Given the description of an element on the screen output the (x, y) to click on. 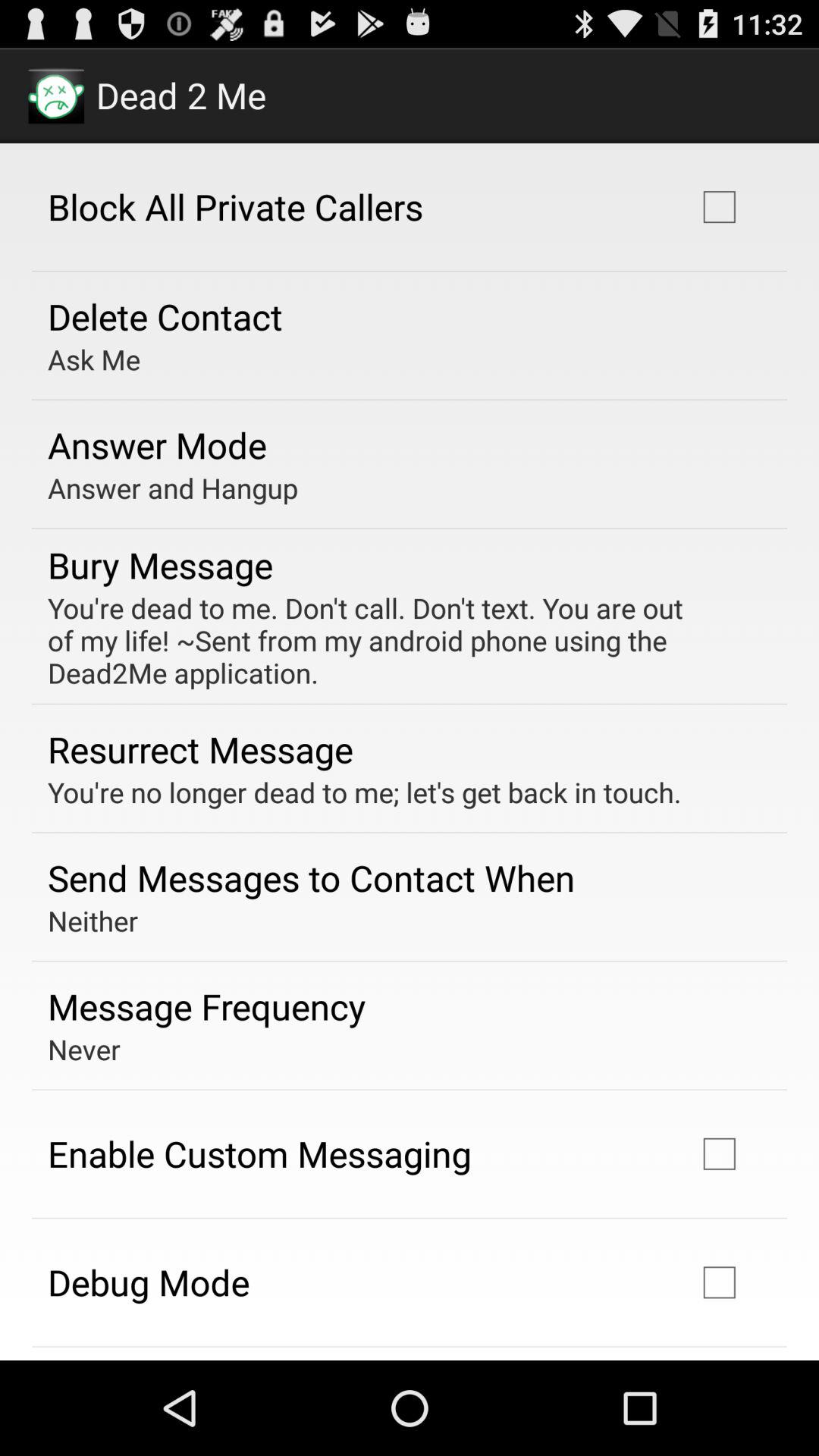
swipe until the delete contact app (164, 316)
